Given the description of an element on the screen output the (x, y) to click on. 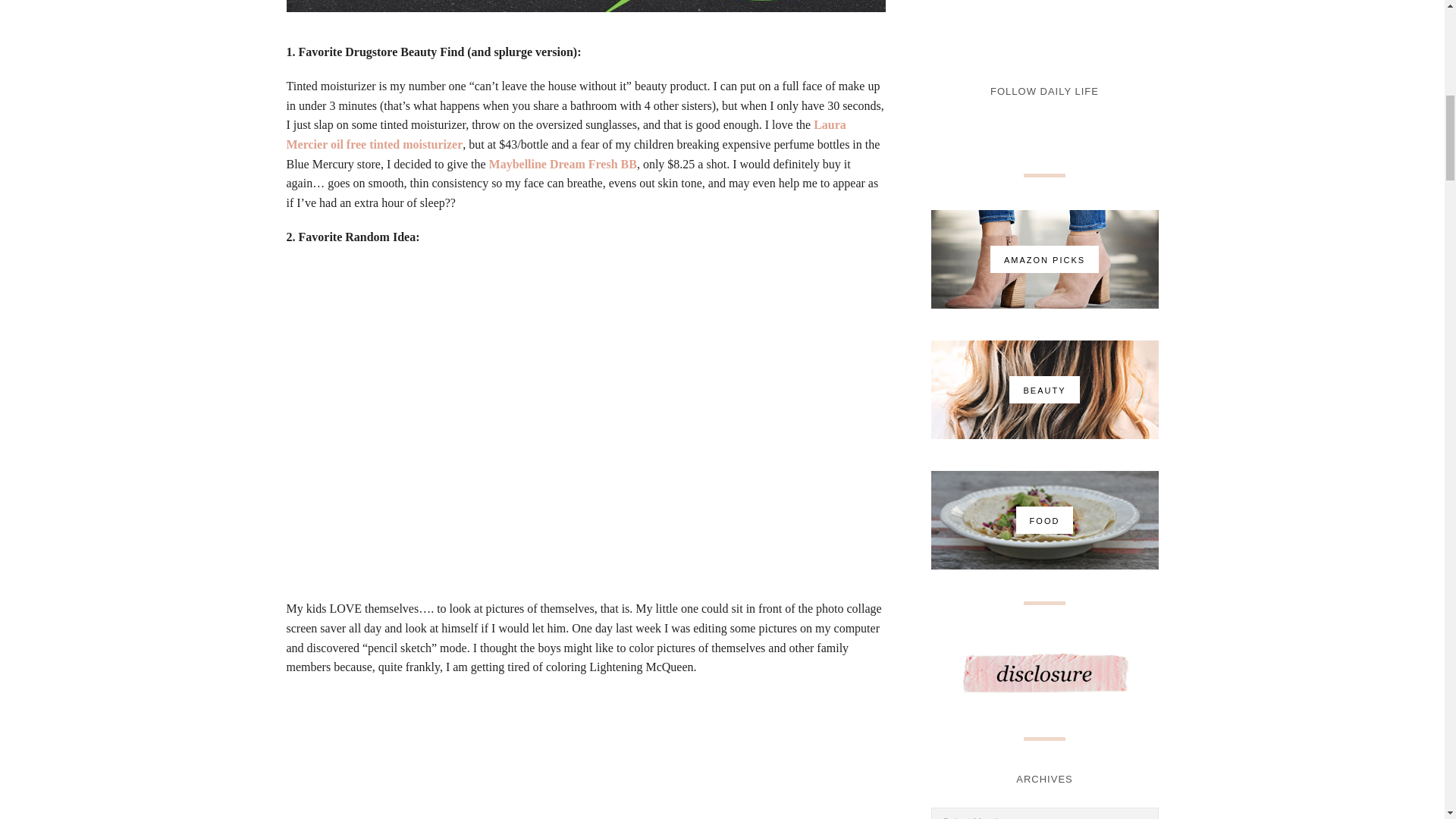
Laura Mercier Tinted Moisturizer (565, 133)
BB (563, 164)
